Given the description of an element on the screen output the (x, y) to click on. 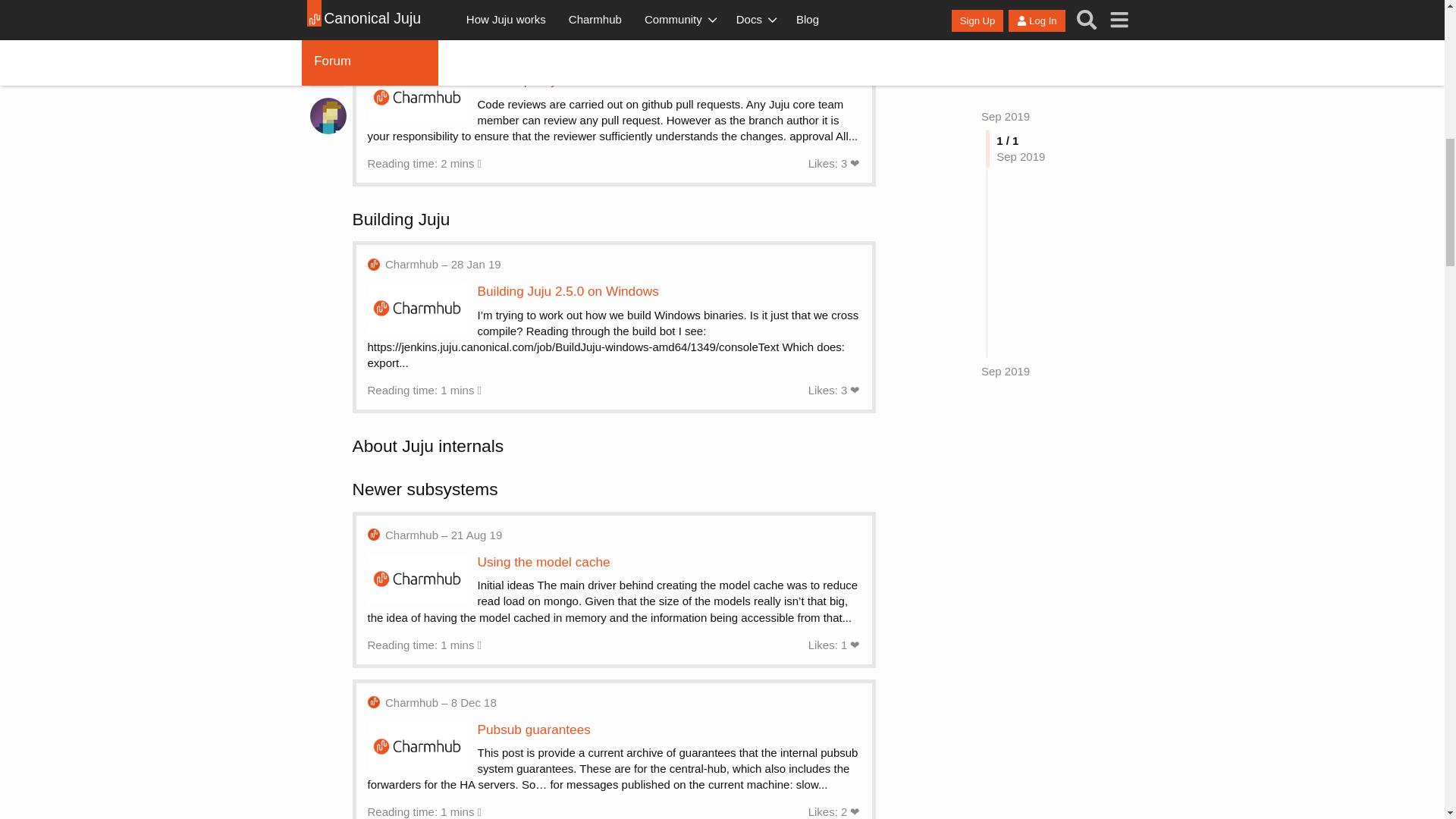
Review policy (517, 79)
04:25AM - 08 December 2018 (440, 702)
02:28AM - 21 August 2019 (443, 534)
Building Juju 2.5.0 on Windows (568, 290)
01:08PM - 28 January 2019 (442, 263)
03:11AM - 02 April 2019 (439, 53)
